Given the description of an element on the screen output the (x, y) to click on. 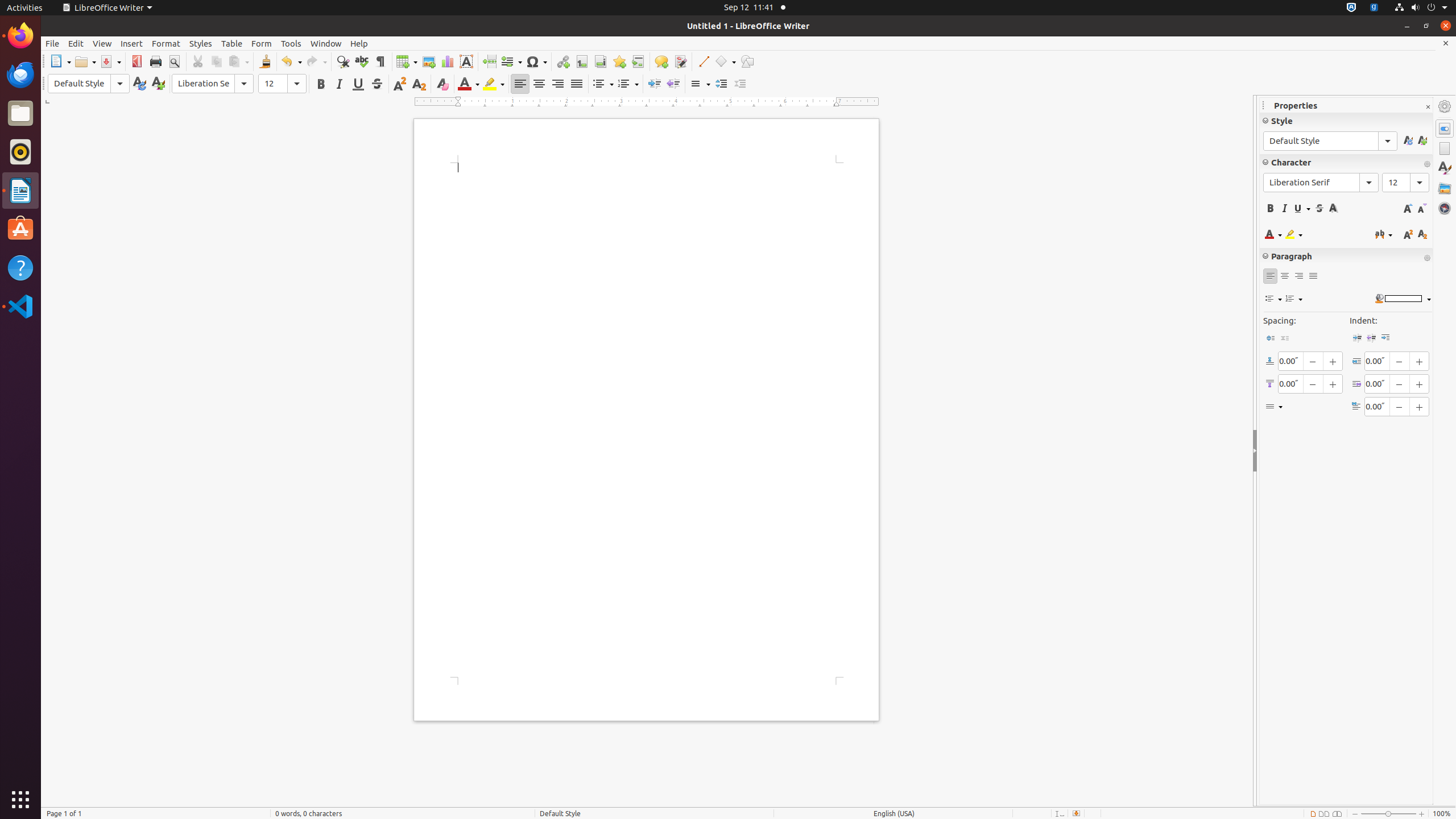
File Element type: menu (51, 43)
Bookmark Element type: push-button (618, 61)
Update Element type: push-button (138, 83)
Window Element type: menu (325, 43)
